Given the description of an element on the screen output the (x, y) to click on. 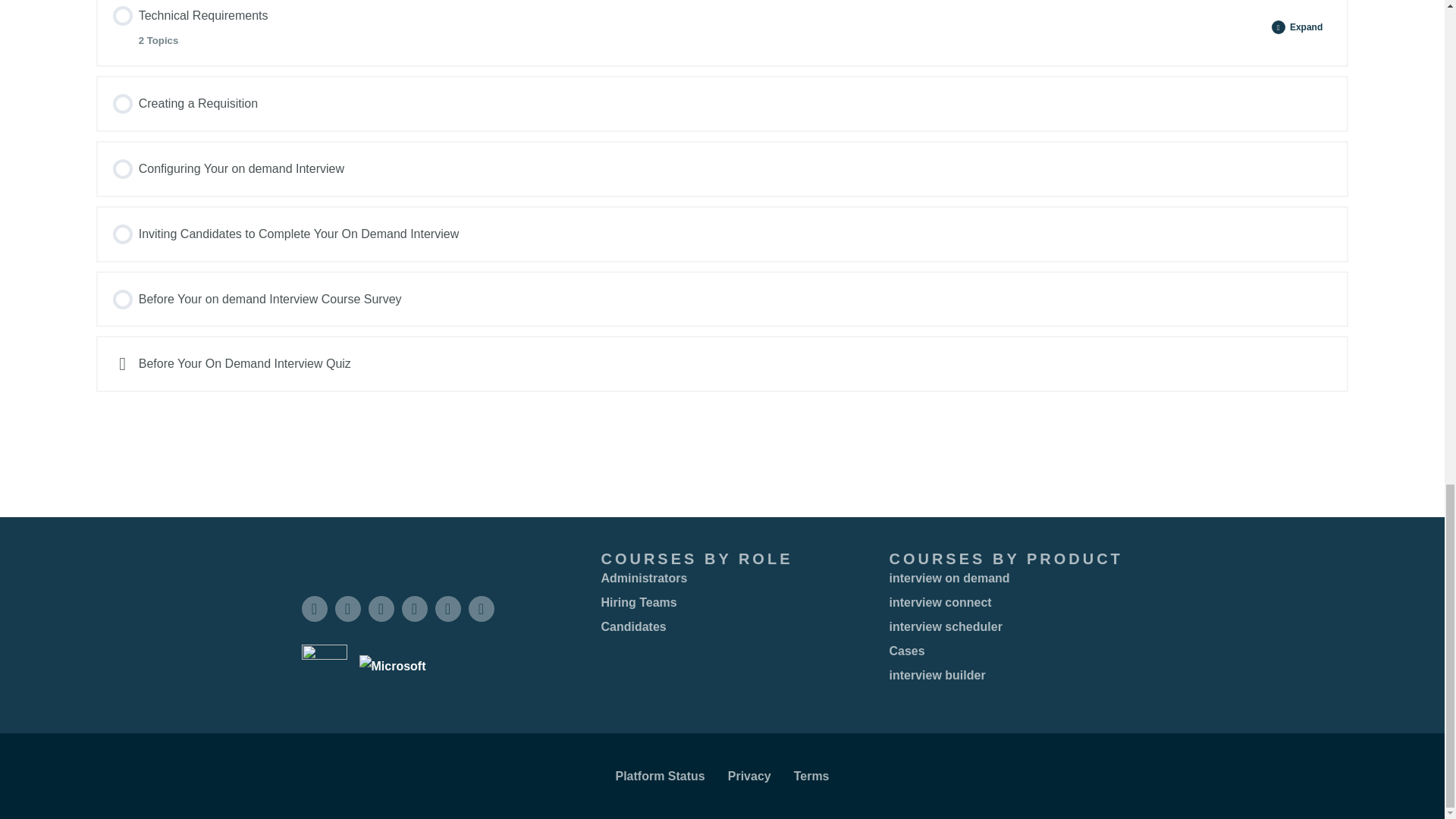
Creating a Requisition (687, 27)
Configuring Your on demand Interview (722, 103)
